Given the description of an element on the screen output the (x, y) to click on. 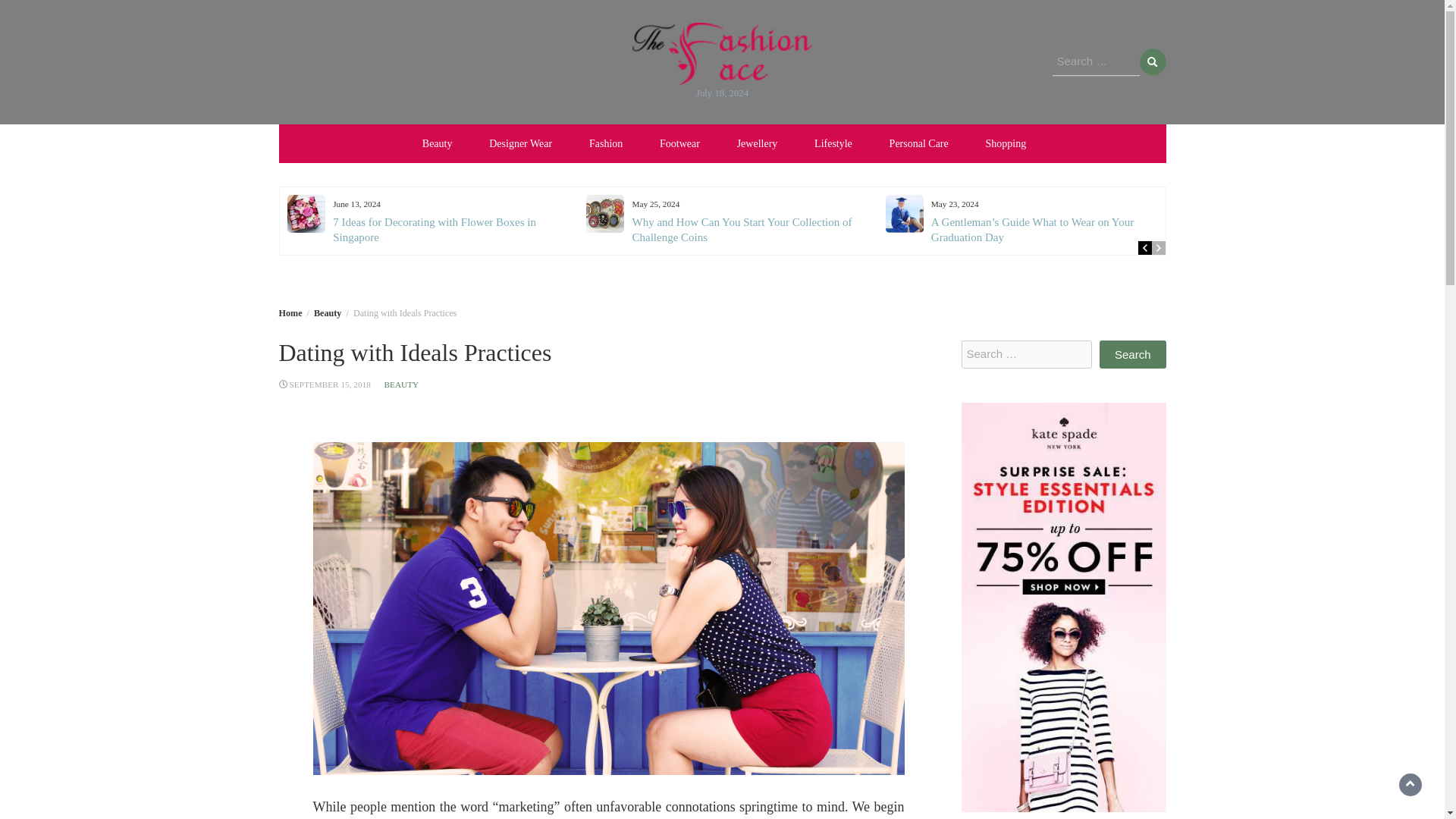
7 Ideas for Decorating with Flower Boxes in Singapore (434, 229)
Search for: (1096, 62)
Personal Care (919, 143)
Designer Wear (520, 143)
Lifestyle (833, 143)
Beauty (437, 143)
Search for: (1026, 354)
Fashion (605, 143)
Beauty (327, 312)
Footwear (679, 143)
Search (1152, 61)
Search (1152, 61)
Search (1132, 354)
SEPTEMBER 15, 2018 (330, 384)
Home (290, 312)
